Given the description of an element on the screen output the (x, y) to click on. 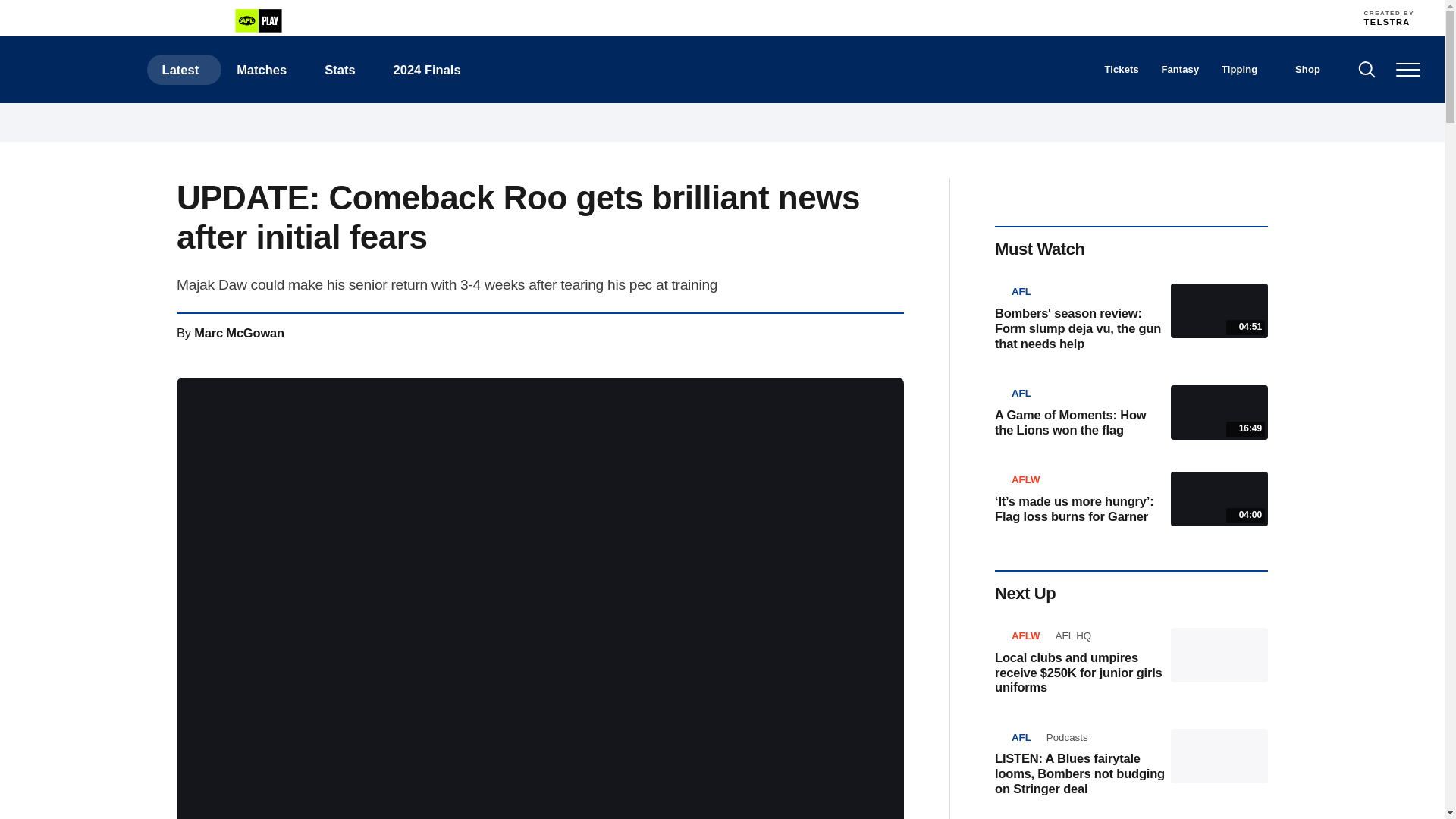
Fremantle (704, 17)
Carlton (603, 17)
AFLW (155, 21)
Port Adelaide (938, 17)
Richmond (971, 17)
Richmond (971, 17)
Sydney Swans (1037, 17)
Geelong (737, 17)
Essendon (670, 17)
AFLW (155, 21)
